Given the description of an element on the screen output the (x, y) to click on. 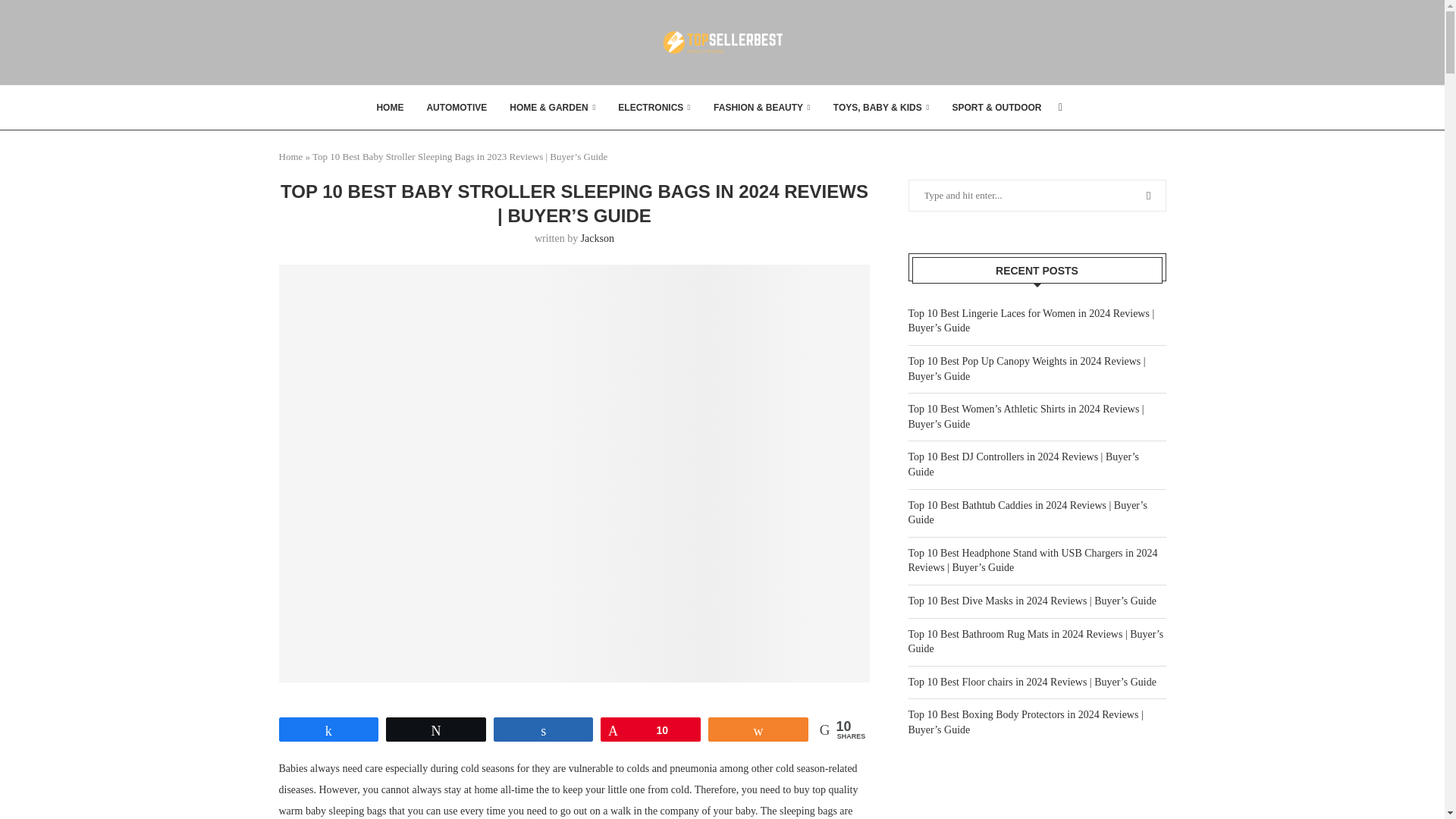
Home (290, 156)
10 (650, 729)
AUTOMOTIVE (456, 107)
Jackson (597, 238)
ELECTRONICS (653, 107)
